Given the description of an element on the screen output the (x, y) to click on. 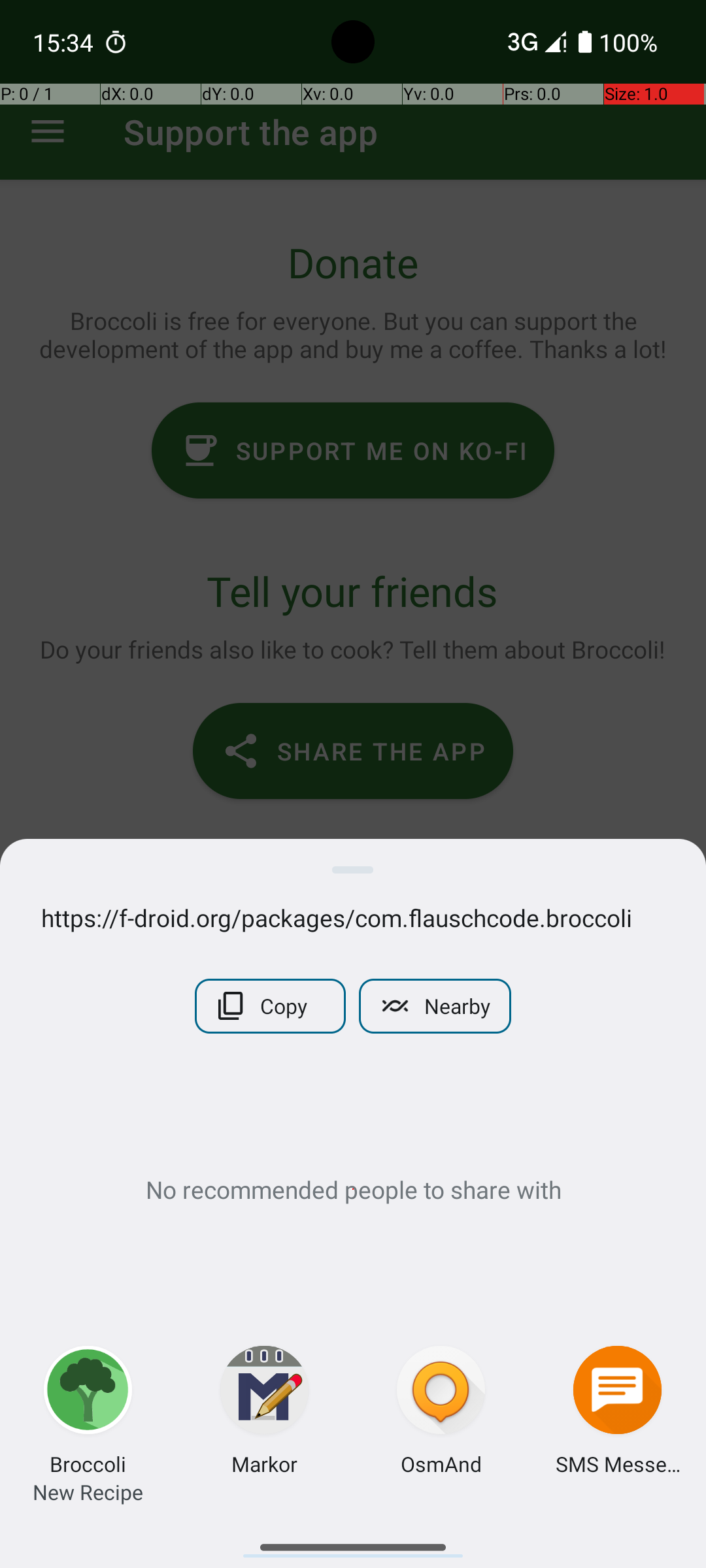
Apps list Element type: android.widget.ImageView (353, 1541)
https://f-droid.org/packages/com.flauschcode.broccoli Element type: android.widget.TextView (352, 917)
Copy Element type: android.widget.Button (269, 1005)
Nearby Element type: android.widget.Button (434, 1005)
No recommended people to share with Element type: android.widget.TextView (353, 1189)
OsmAnd Element type: android.widget.TextView (440, 1463)
SMS Messenger Element type: android.widget.TextView (617, 1463)
